Given the description of an element on the screen output the (x, y) to click on. 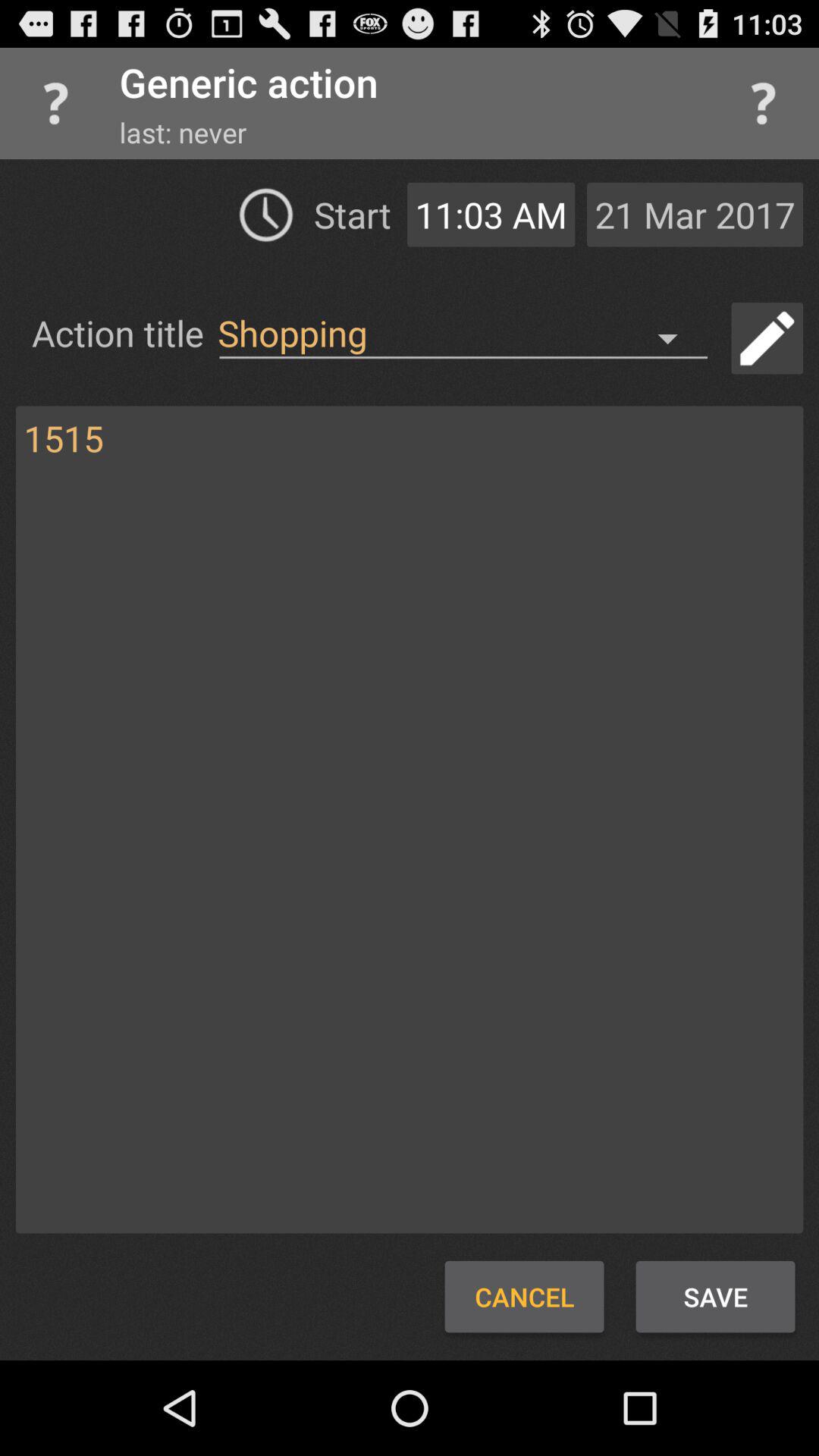
view help (763, 103)
